Given the description of an element on the screen output the (x, y) to click on. 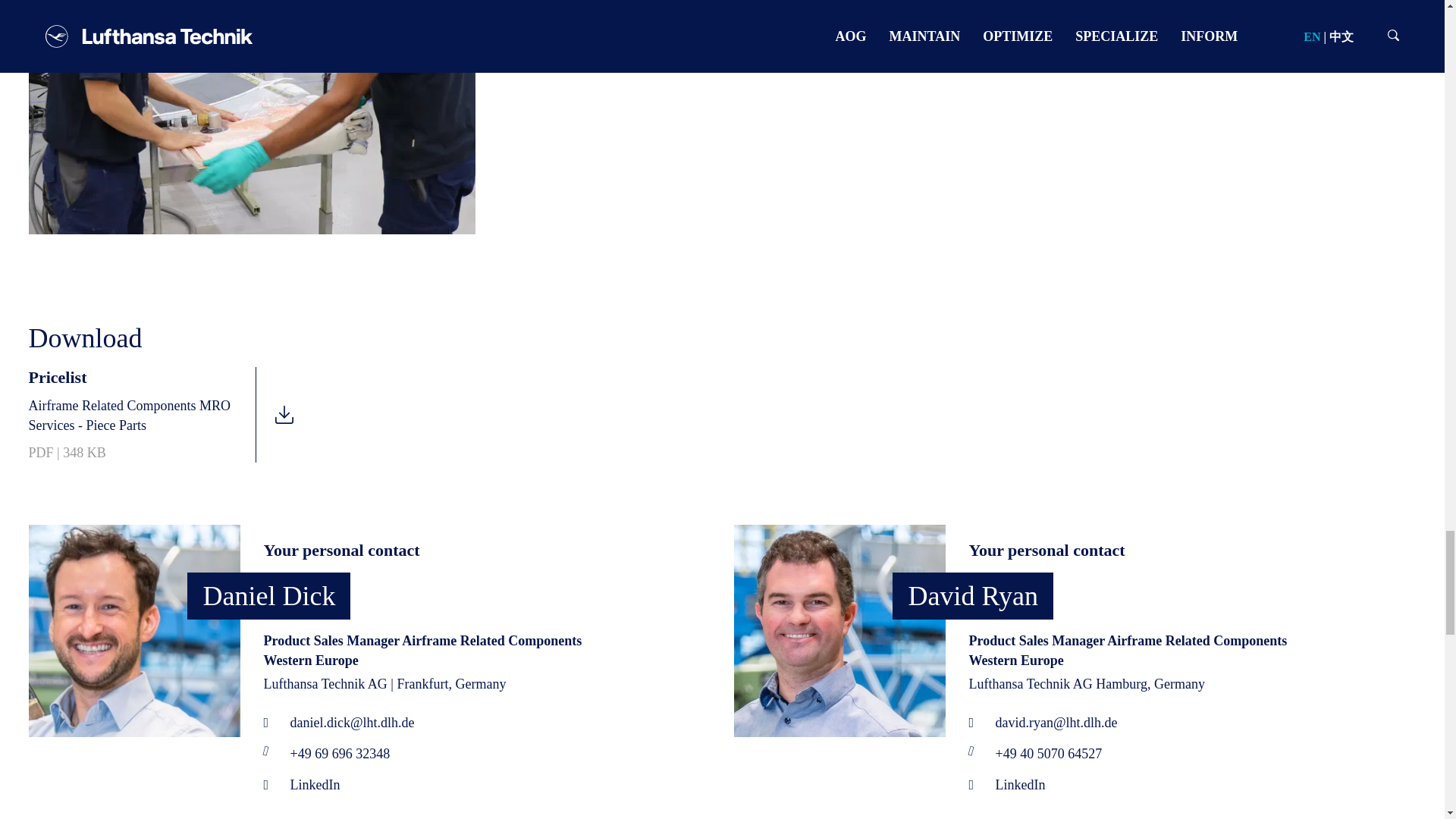
LinkedIn (301, 784)
LinkedIn (1006, 784)
